Given the description of an element on the screen output the (x, y) to click on. 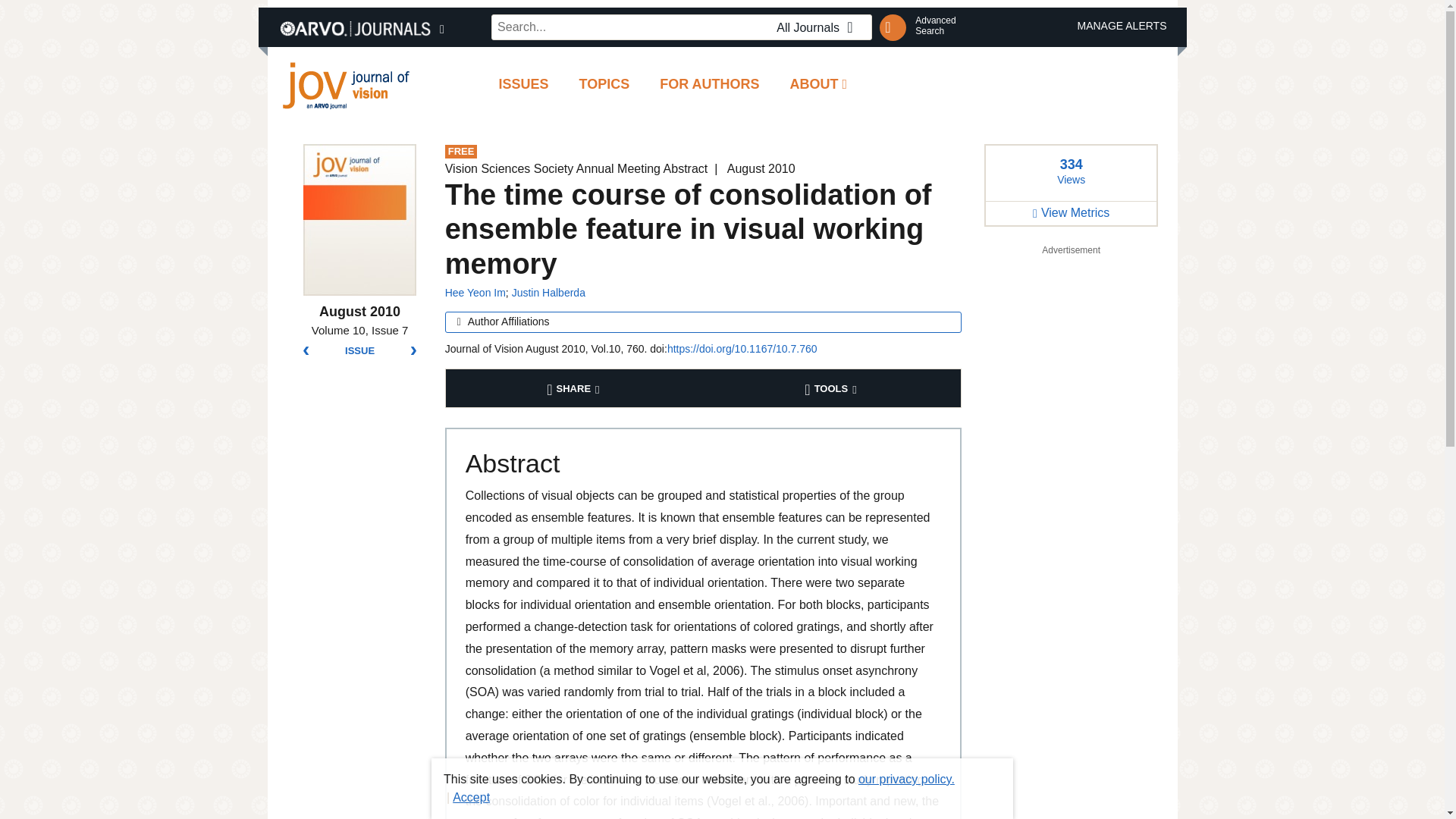
ABOUT (818, 84)
Justin Halberda (548, 292)
TOPICS (604, 84)
ISSUE (359, 350)
SHARE (574, 388)
ISSUES (935, 25)
FOR AUTHORS (523, 84)
All Journals (709, 84)
Hee Yeon Im (819, 27)
